Given the description of an element on the screen output the (x, y) to click on. 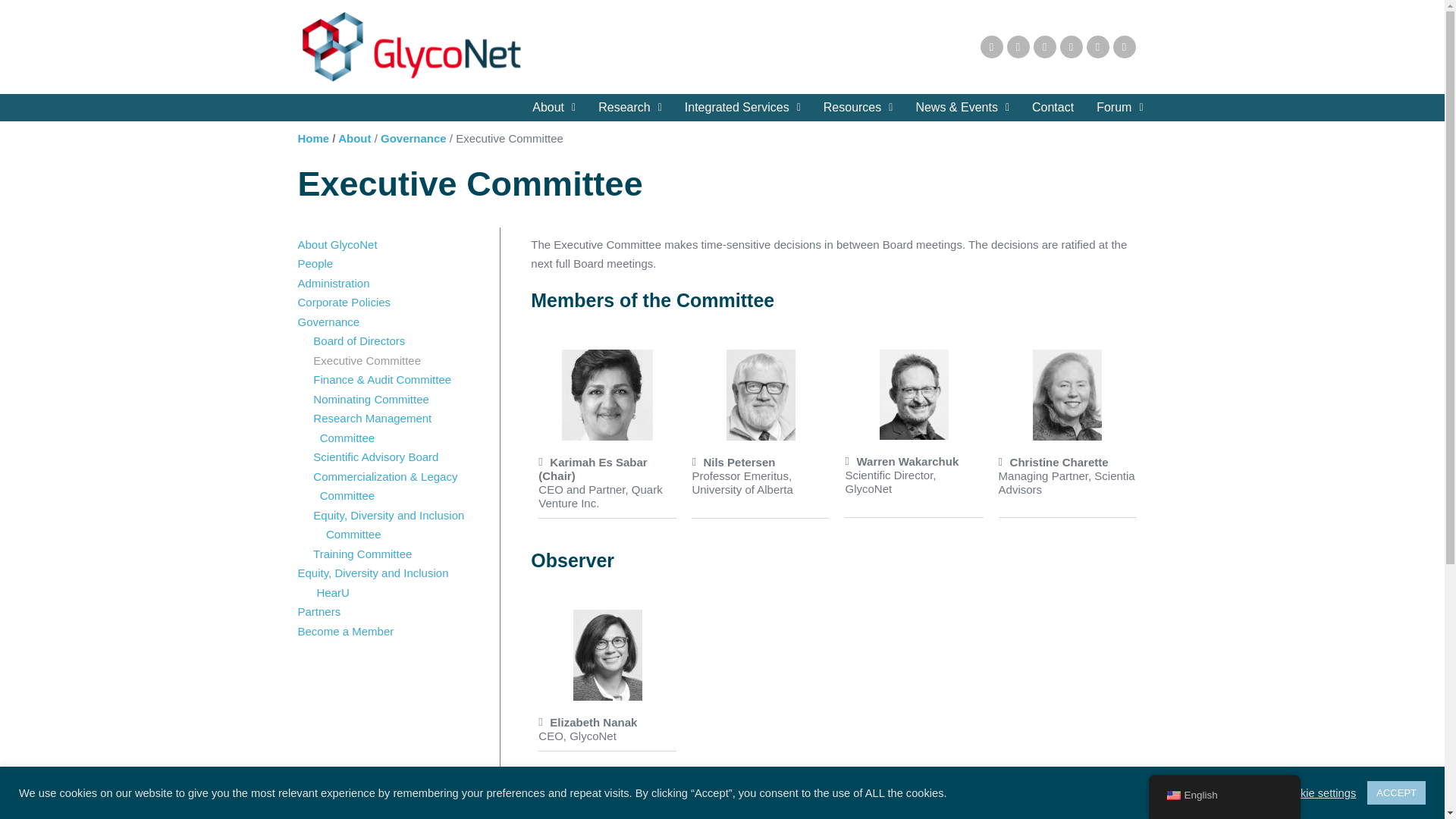
Integrated Services (742, 107)
About (553, 107)
Resources (858, 107)
English (1172, 795)
Research (629, 107)
